Given the description of an element on the screen output the (x, y) to click on. 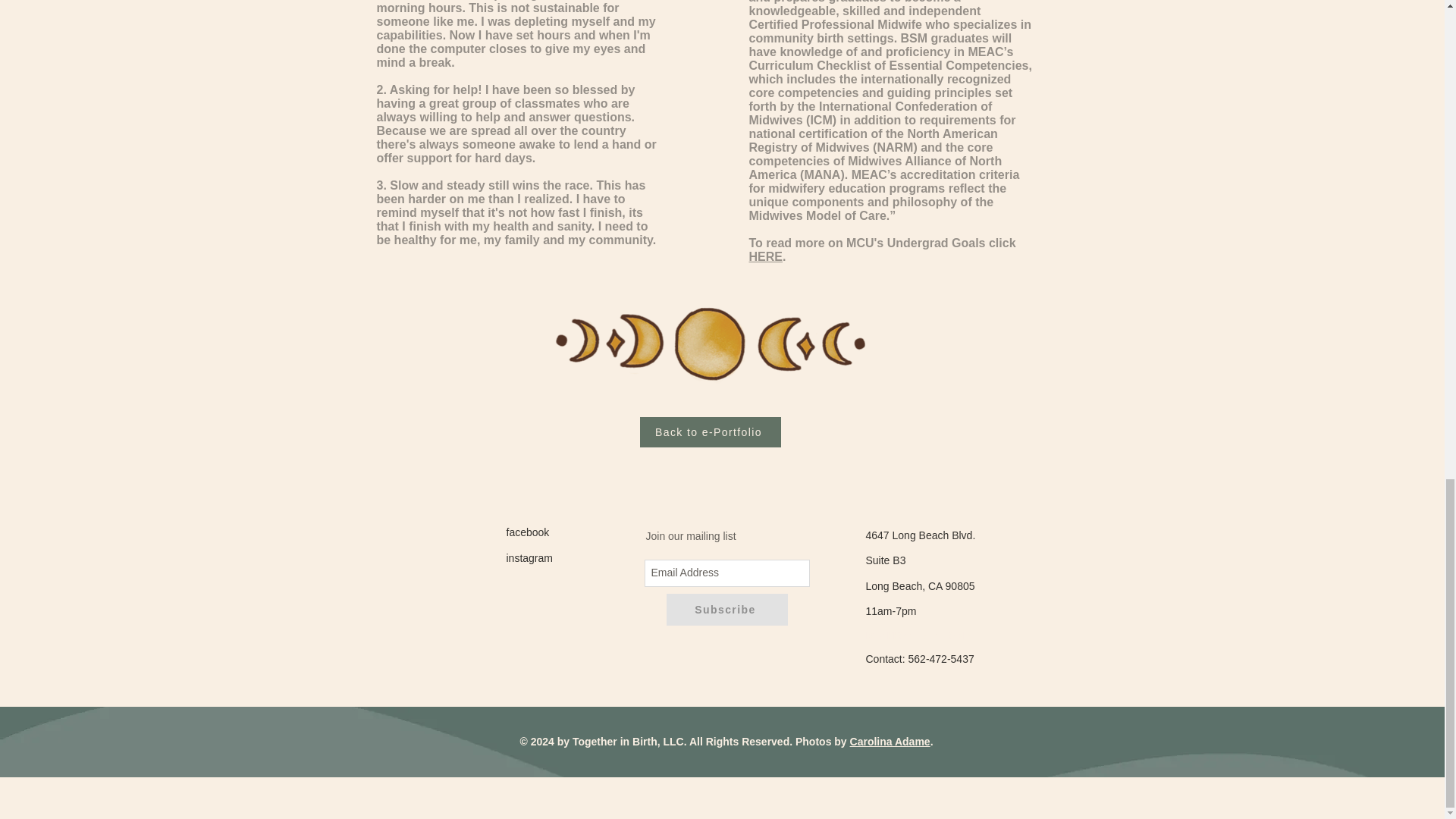
Contact: 562-472-5437 (920, 658)
Subscribe (726, 609)
instagram (529, 558)
facebook (528, 532)
Carolina Adame (890, 741)
Back to e-Portfolio (710, 431)
HERE (766, 256)
